Given the description of an element on the screen output the (x, y) to click on. 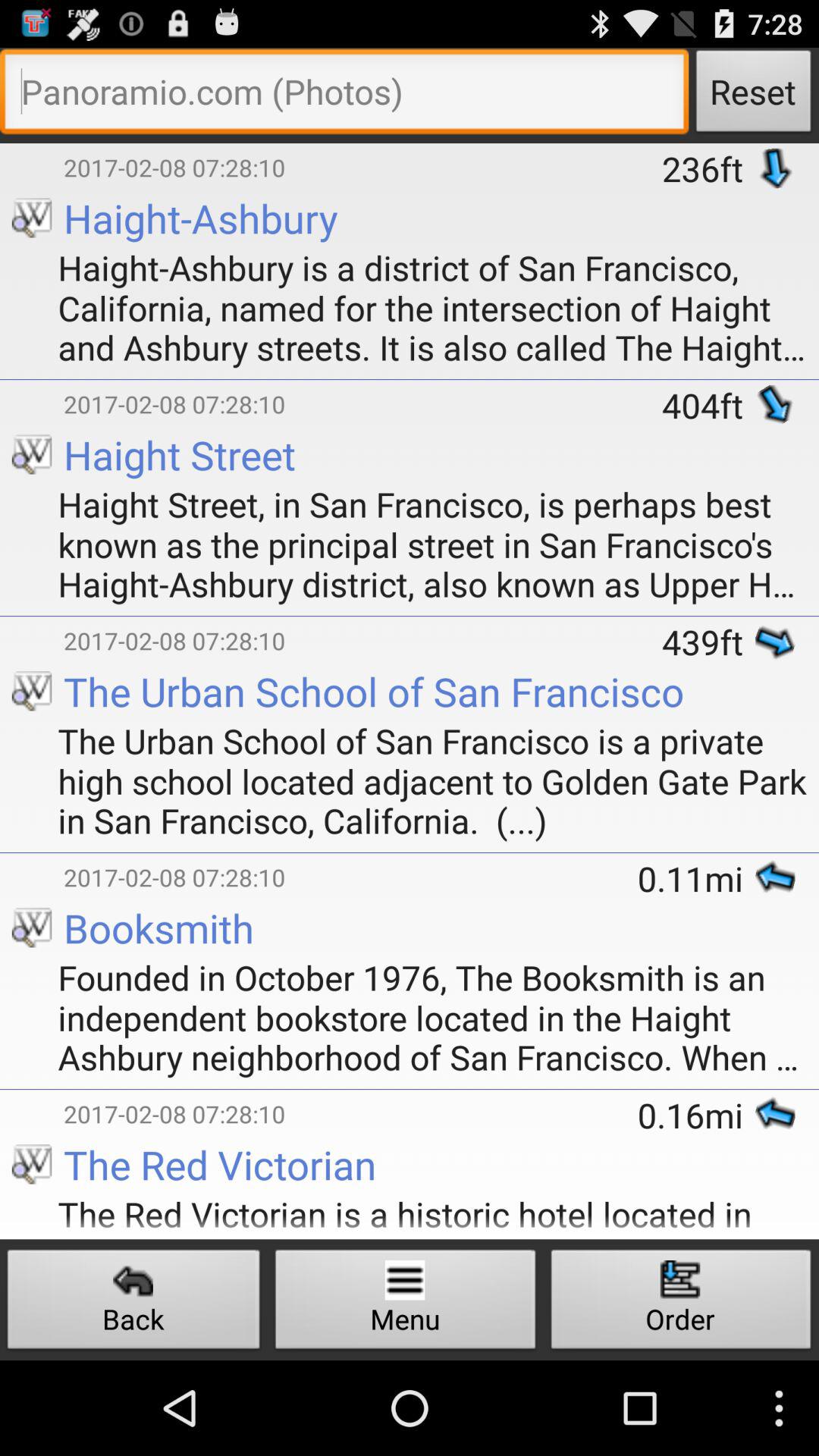
open the icon above the haight ashbury is (708, 168)
